Given the description of an element on the screen output the (x, y) to click on. 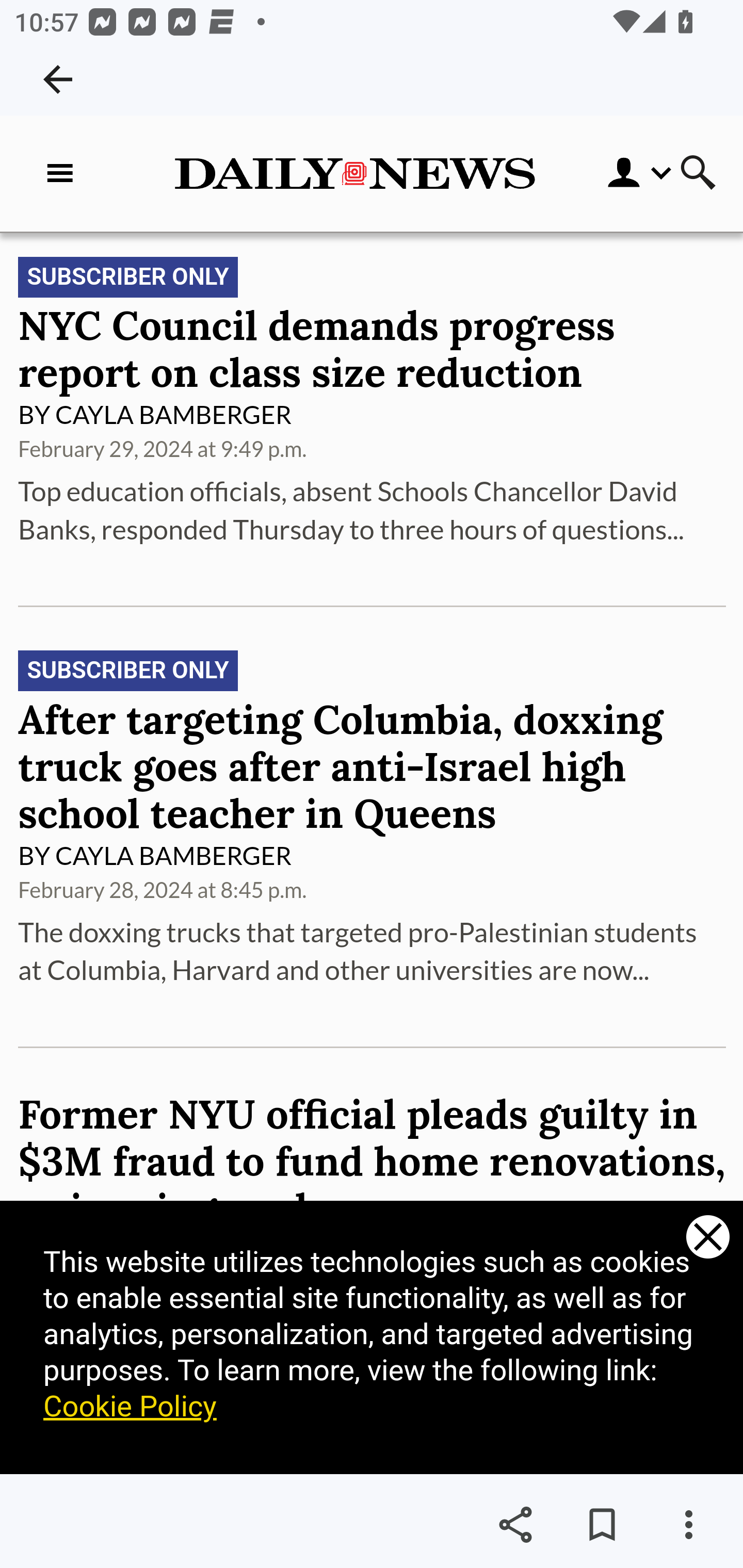
Navigate up (57, 79)
Open menu of all sections (63, 174)
Open menu (625, 174)
Click here or hit enter to open a Search box (697, 173)
New York Daily News (354, 172)
Close this dialog (708, 1237)
Cookie Policy (130, 1406)
Share (514, 1524)
Save for later (601, 1524)
More options (688, 1524)
